Given the description of an element on the screen output the (x, y) to click on. 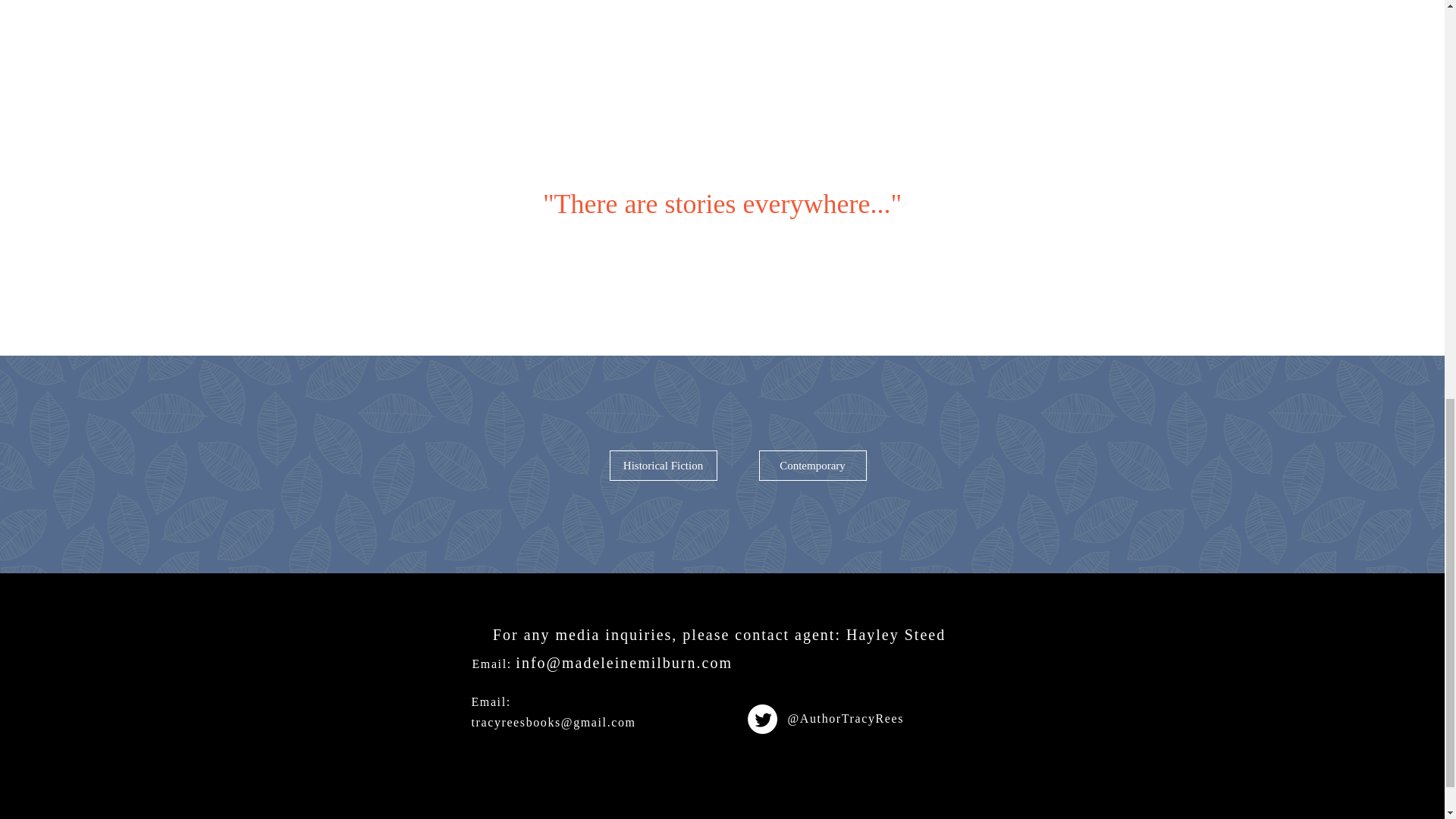
Historical Fiction (663, 465)
Email: (493, 663)
Contemporary (812, 465)
